Given the description of an element on the screen output the (x, y) to click on. 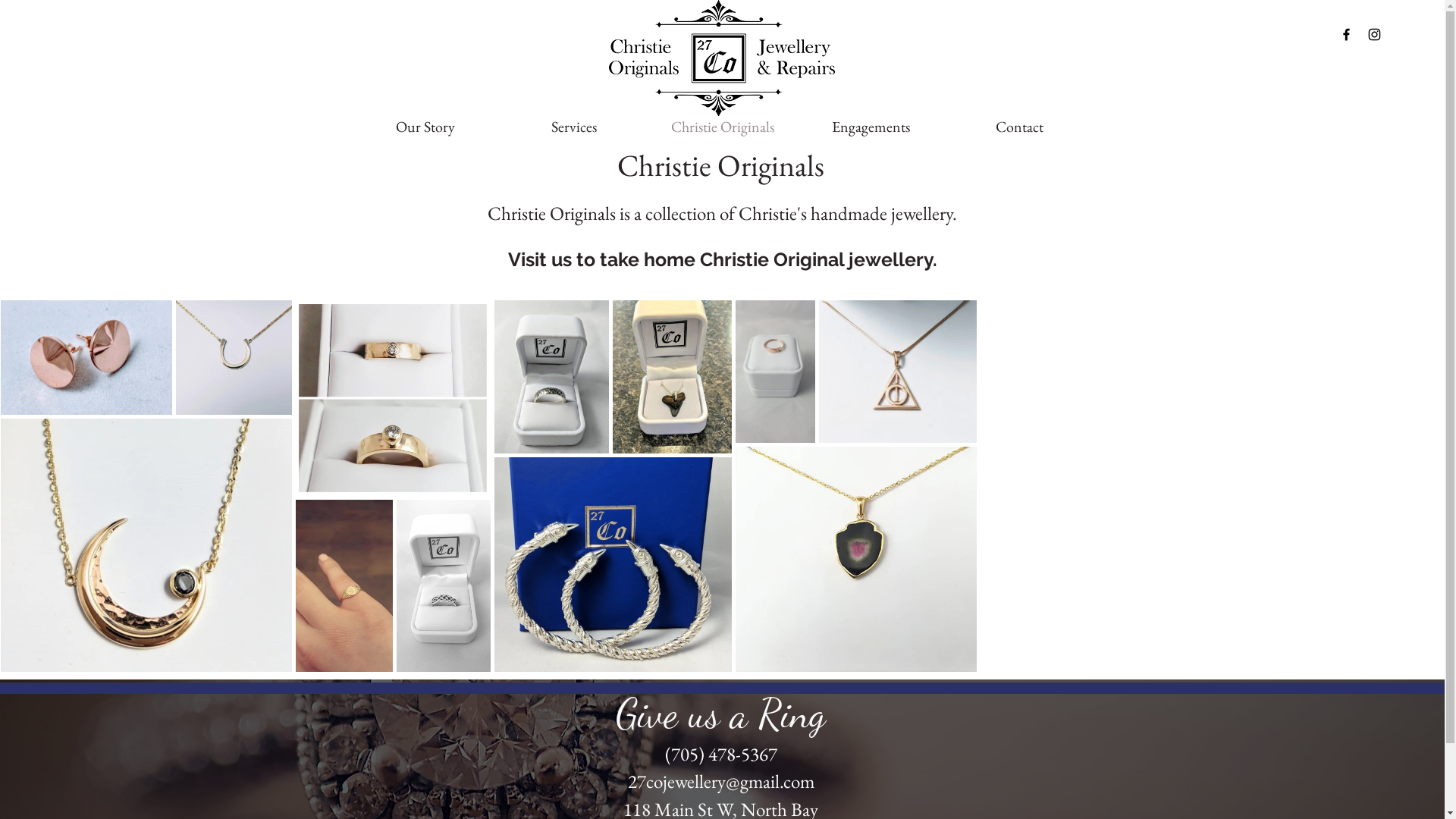
Services Element type: text (572, 125)
Christie Originals Element type: text (721, 125)
(705) 478-5367 Element type: text (720, 753)
Give us a Ring Element type: text (720, 711)
Our Story Element type: text (424, 125)
Contact Element type: text (1018, 125)
27cojewellery@gmail.com Element type: text (720, 780)
Engagements Element type: text (870, 125)
